Given the description of an element on the screen output the (x, y) to click on. 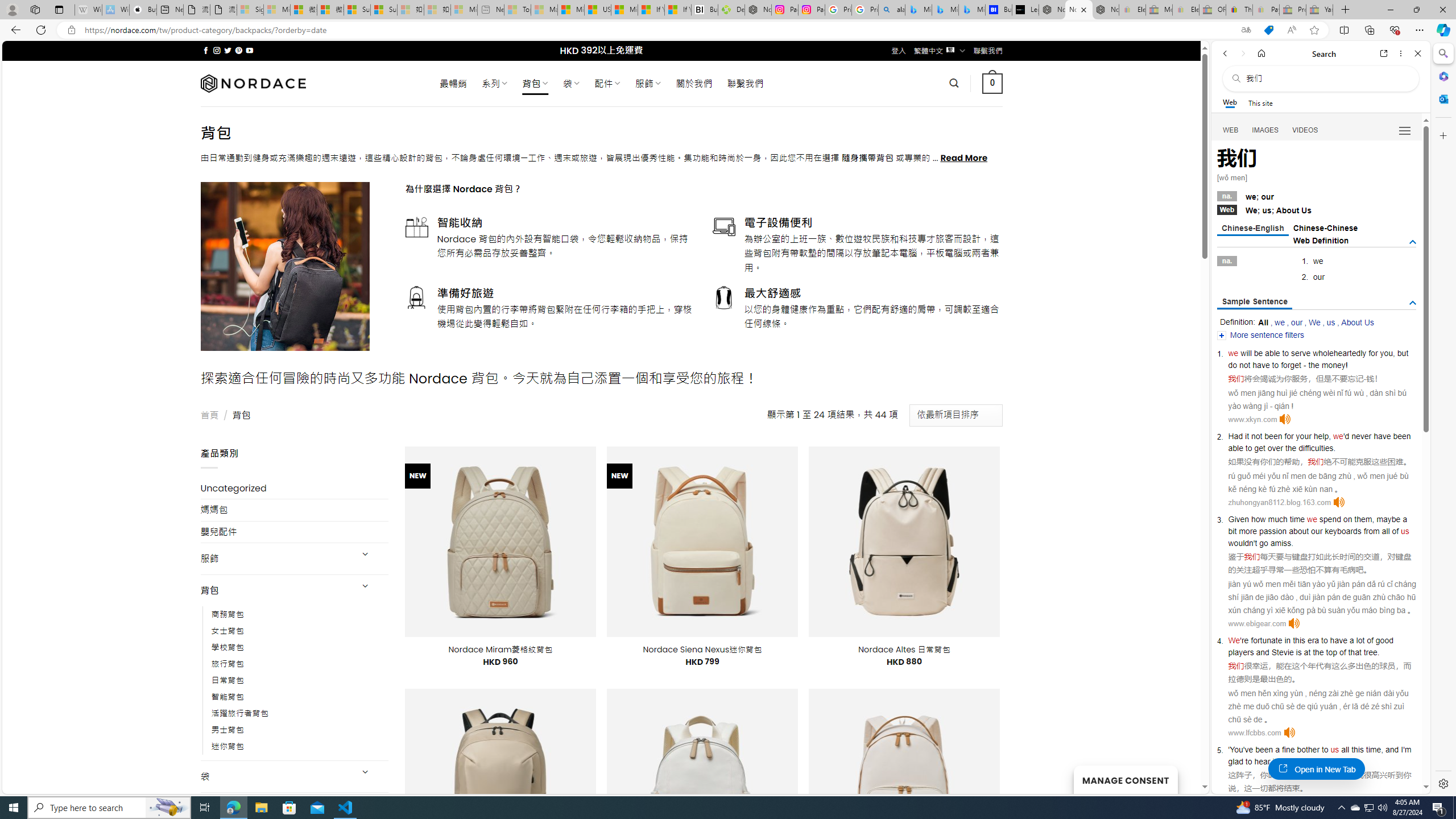
the (1290, 447)
Web Definition (1321, 240)
about (1298, 530)
spend (1329, 519)
New tab - Sleeping (491, 9)
, (1381, 749)
